Given the description of an element on the screen output the (x, y) to click on. 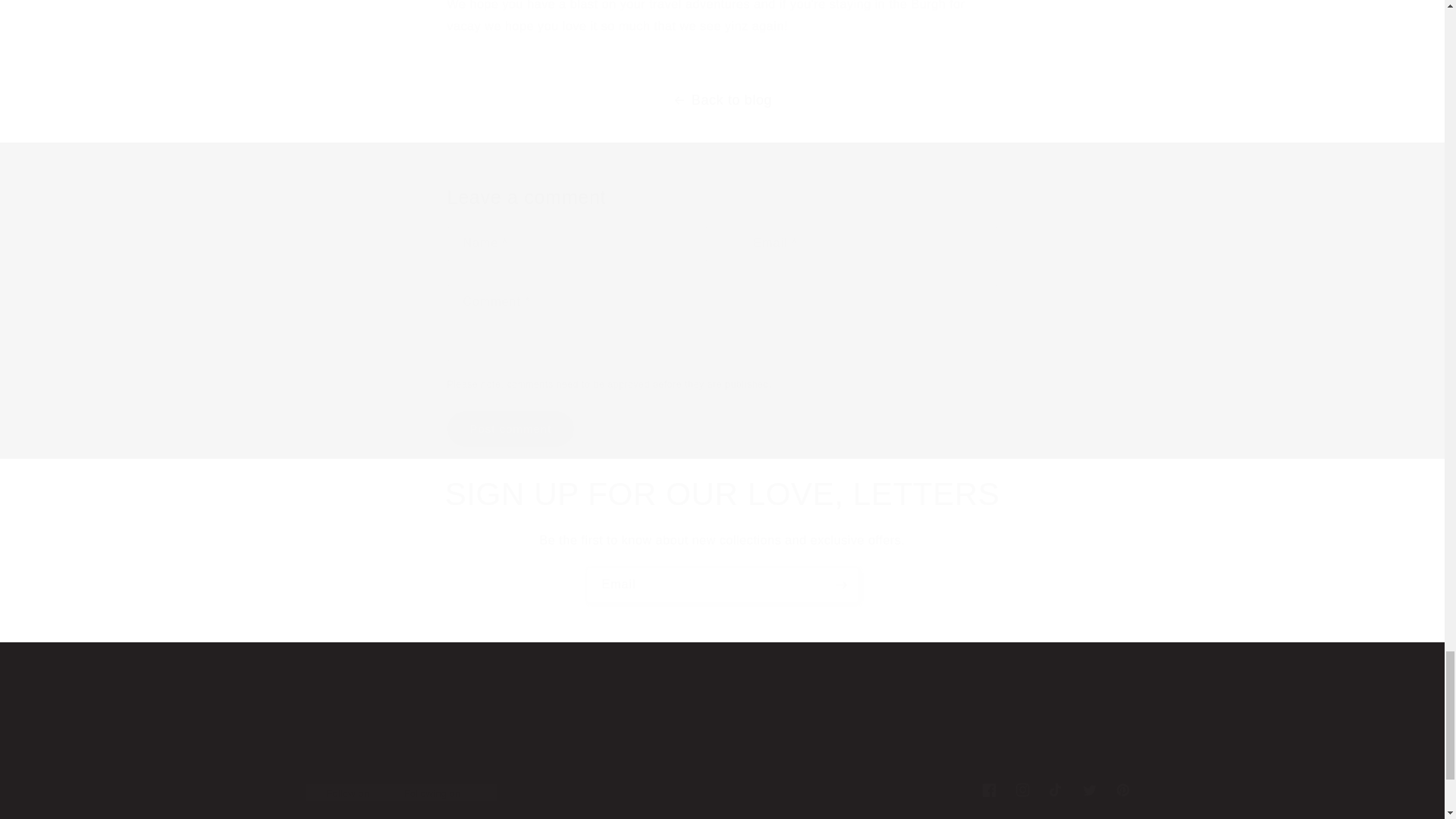
Email (722, 584)
Post comment (721, 789)
SIGN UP FOR OUR LOVE, LETTERS (510, 428)
